Given the description of an element on the screen output the (x, y) to click on. 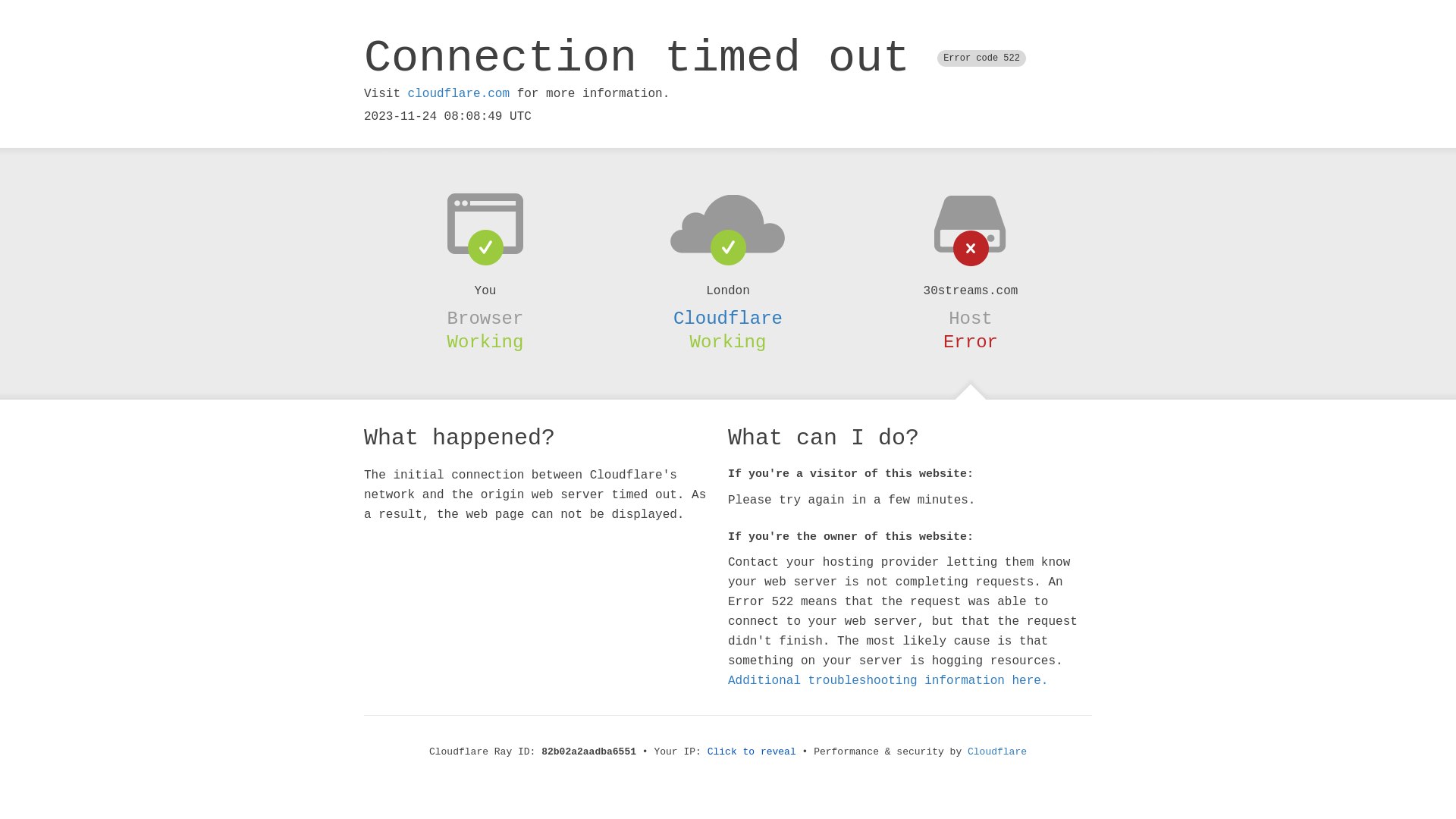
Additional troubleshooting information here. Element type: text (888, 680)
Click to reveal Element type: text (751, 751)
Cloudflare Element type: text (996, 751)
Cloudflare Element type: text (727, 318)
cloudflare.com Element type: text (458, 93)
